Given the description of an element on the screen output the (x, y) to click on. 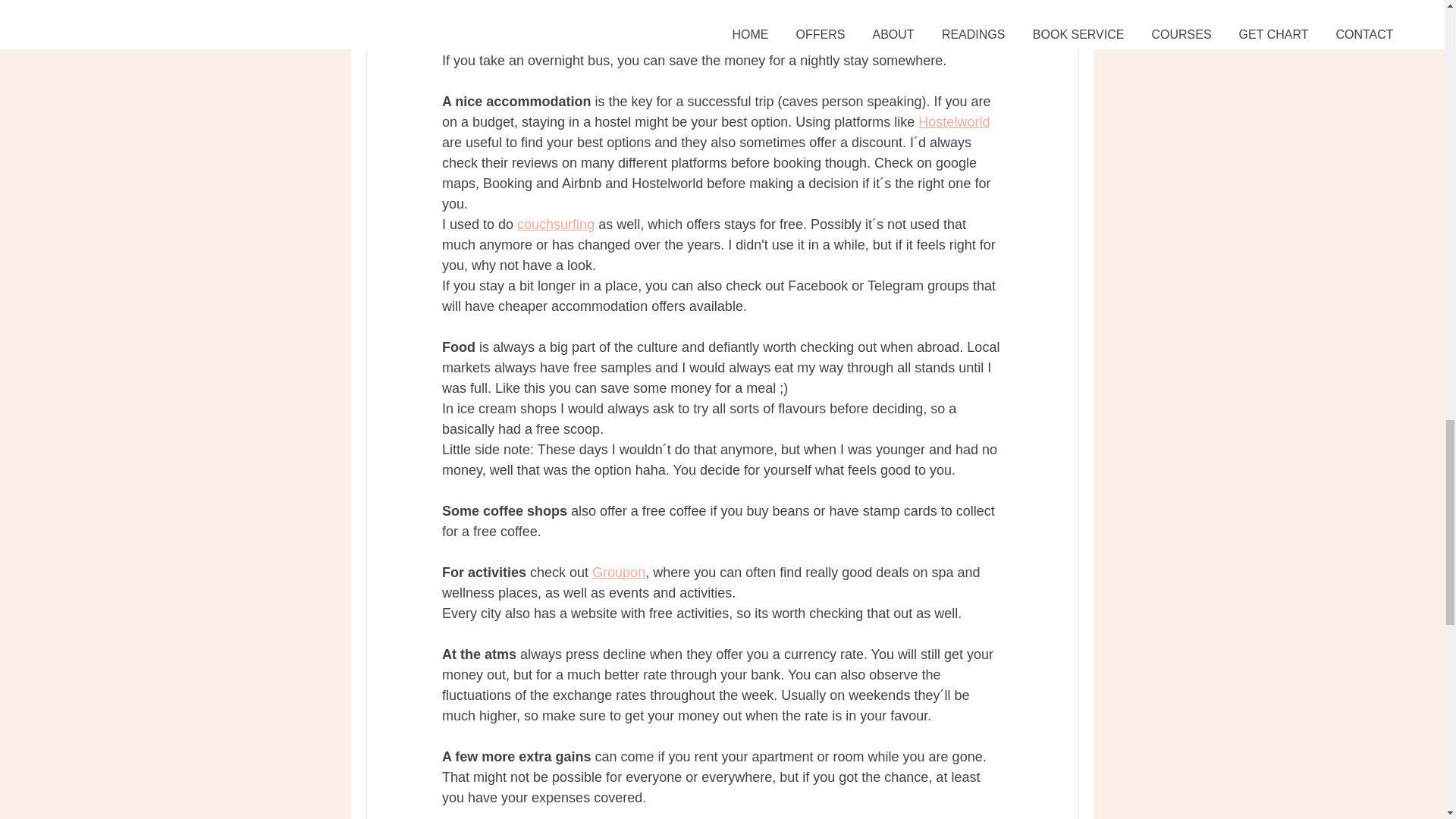
Groupon (618, 572)
Hostelworld (954, 121)
couchsurfing (555, 224)
